Given the description of an element on the screen output the (x, y) to click on. 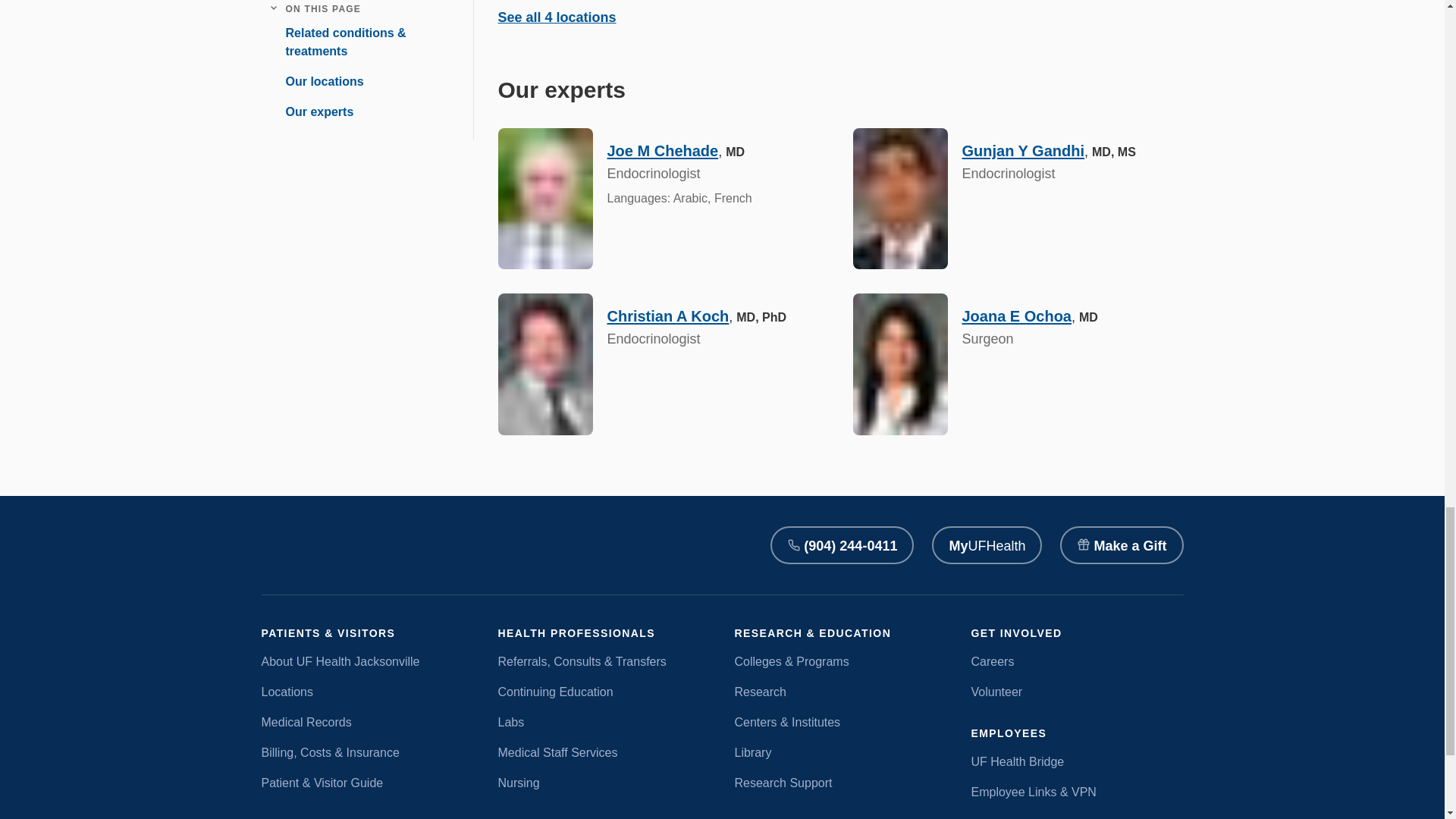
See all 4 locations (556, 16)
Joe M Chehade (662, 150)
Gunjan Y Gandhi (1022, 150)
